Given the description of an element on the screen output the (x, y) to click on. 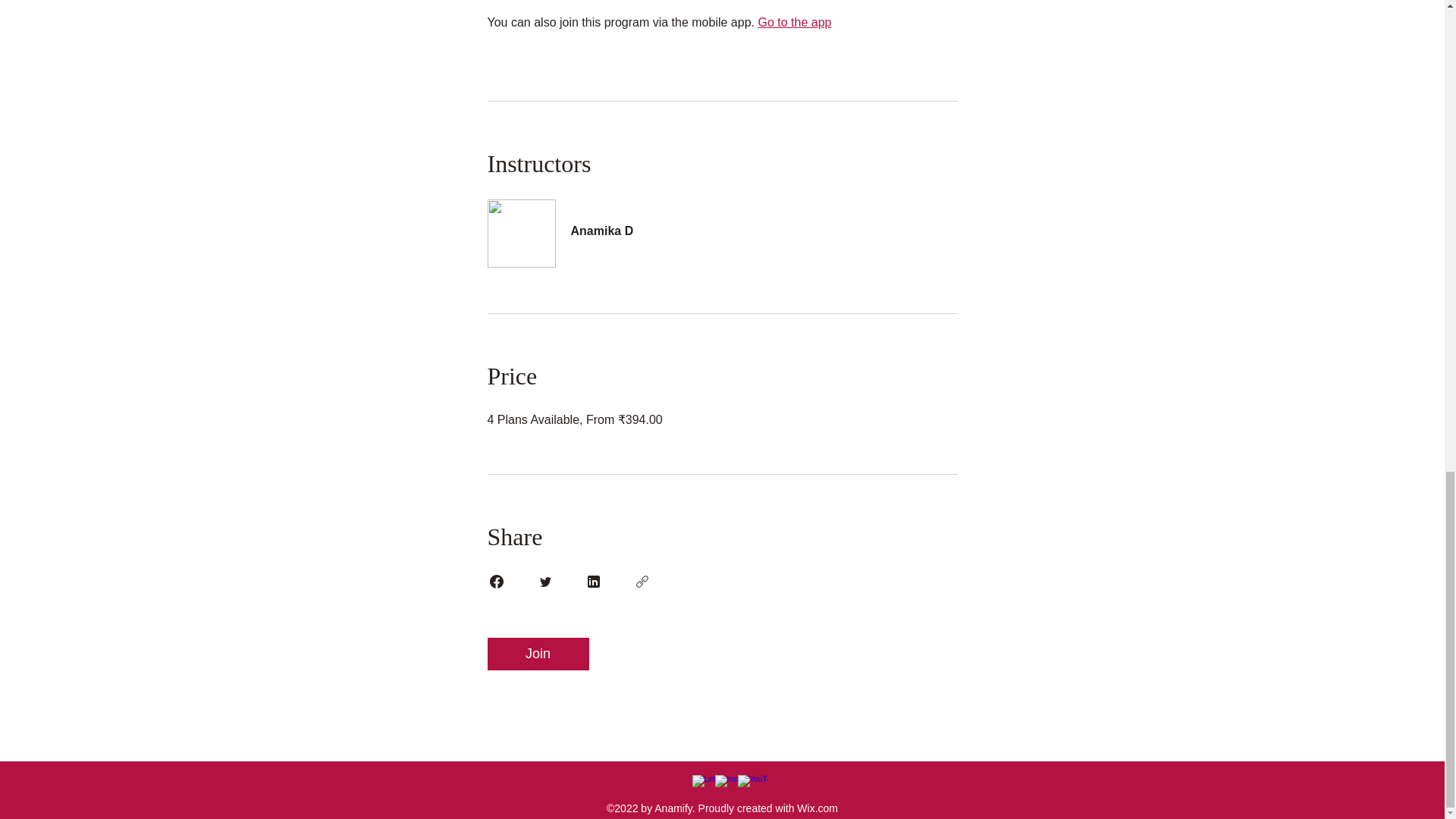
Join (537, 654)
Go to the app (794, 21)
Anamika D (721, 222)
